Given the description of an element on the screen output the (x, y) to click on. 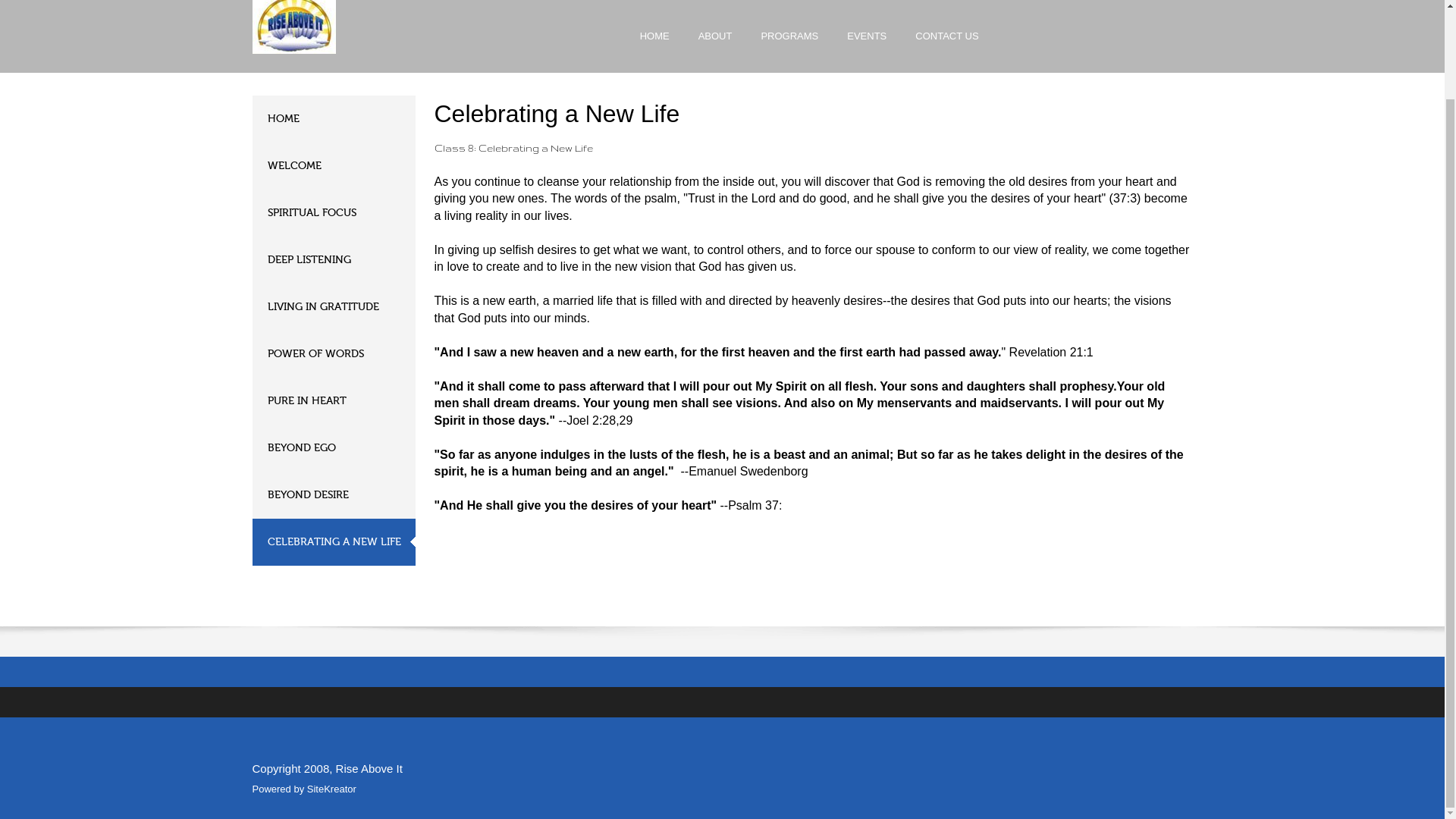
DEEP LISTENING (332, 259)
WELCOME (332, 165)
SPIRITUAL FOCUS (332, 212)
PROGRAMS (789, 48)
BEYOND DESIRE (332, 494)
Contact Us (946, 48)
CONTACT US (946, 48)
BEYOND EGO (332, 448)
HOME (332, 118)
PURE IN HEART (332, 401)
